Given the description of an element on the screen output the (x, y) to click on. 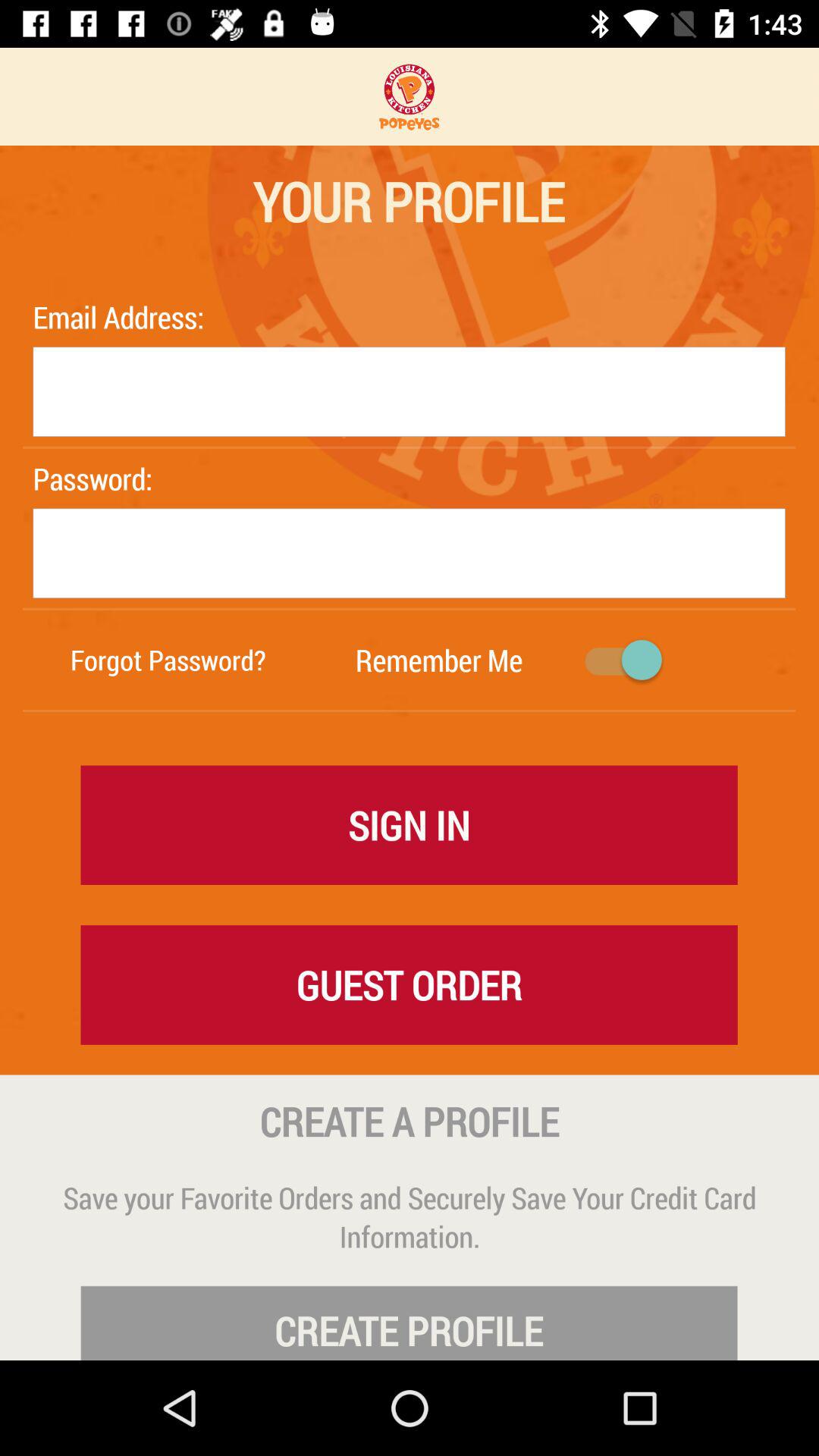
flip to the remember me item (438, 659)
